Given the description of an element on the screen output the (x, y) to click on. 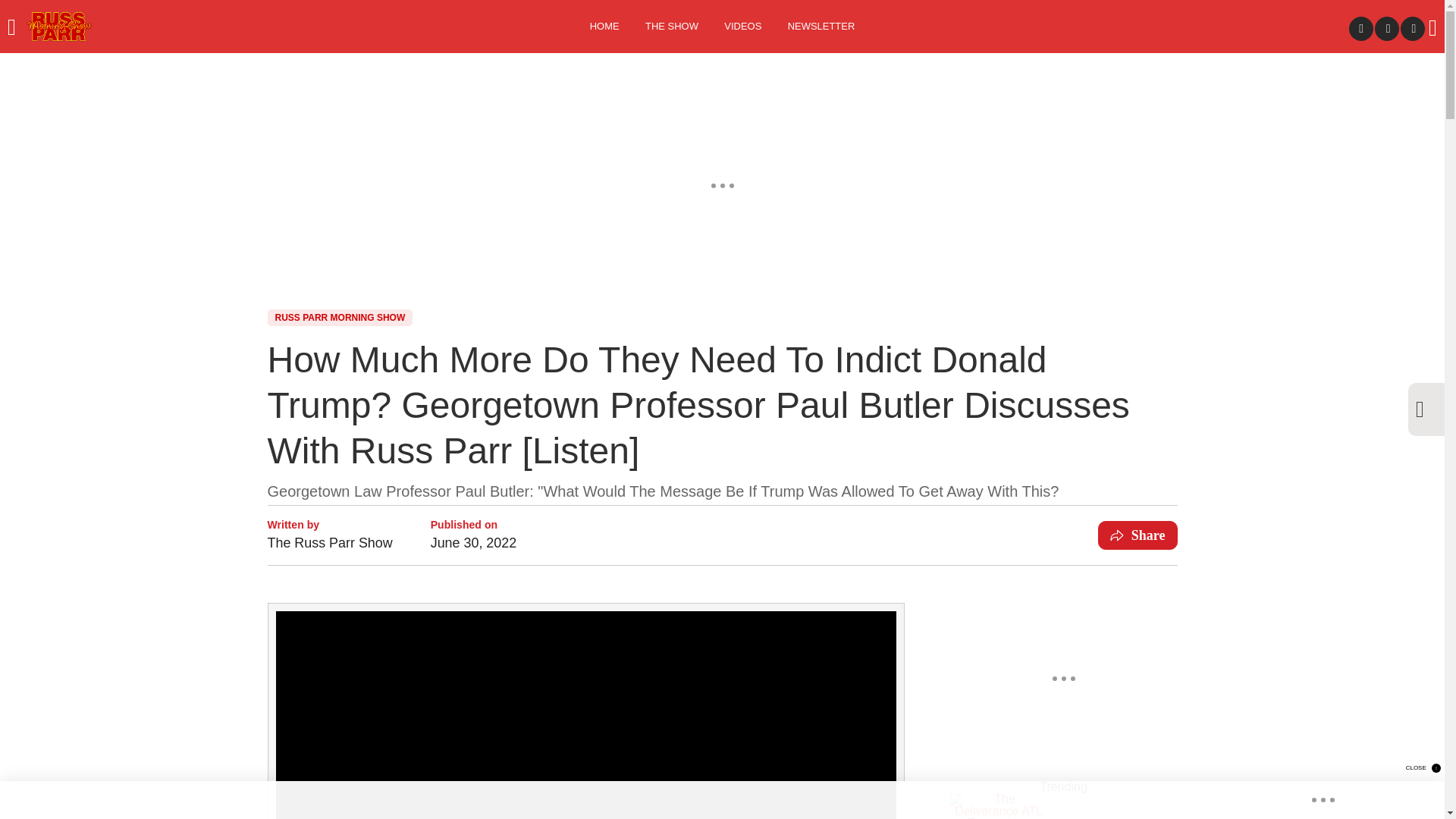
THE SHOW (671, 26)
VIDEOS (743, 26)
Instagram (1412, 28)
RUSS PARR MORNING SHOW (339, 317)
HOME (604, 26)
NEWSLETTER (821, 26)
Facebook (1361, 28)
The Russ Parr Show (328, 542)
Share (1137, 534)
Twitter (1386, 28)
